Given the description of an element on the screen output the (x, y) to click on. 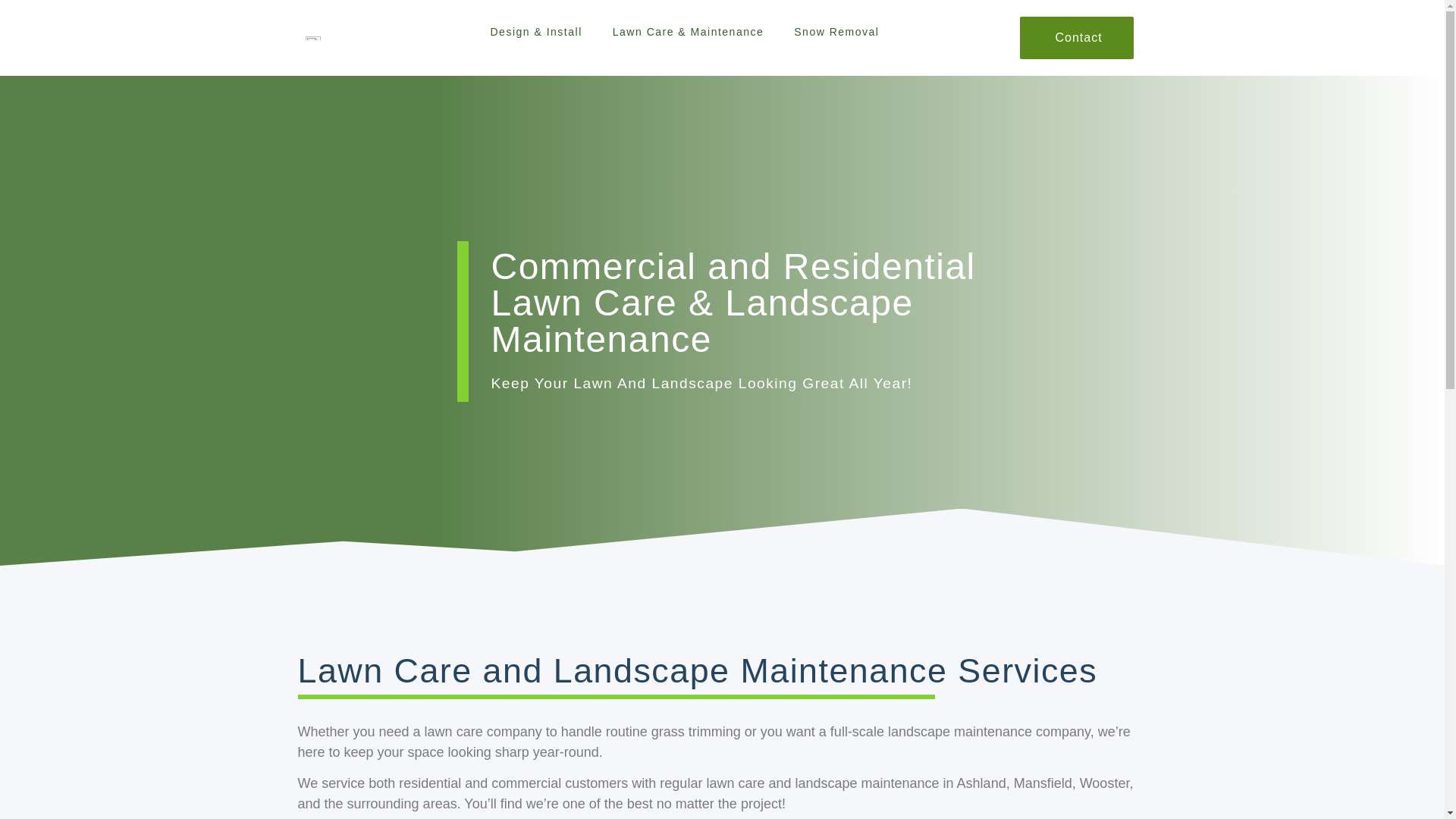
Snow Removal (835, 31)
Contact (1077, 37)
